Given the description of an element on the screen output the (x, y) to click on. 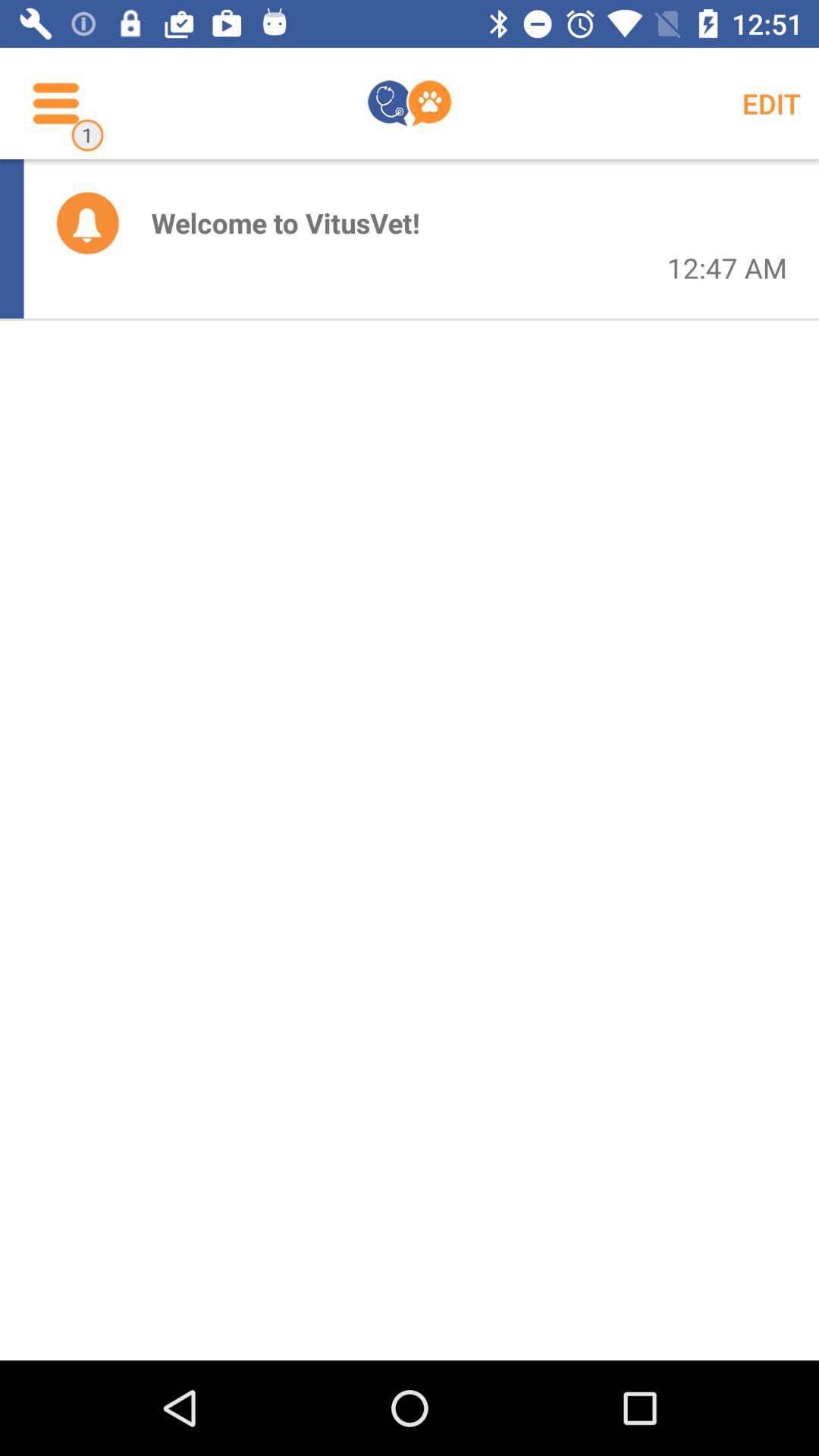
choose the icon next to welcome to vitusvet! (87, 222)
